Given the description of an element on the screen output the (x, y) to click on. 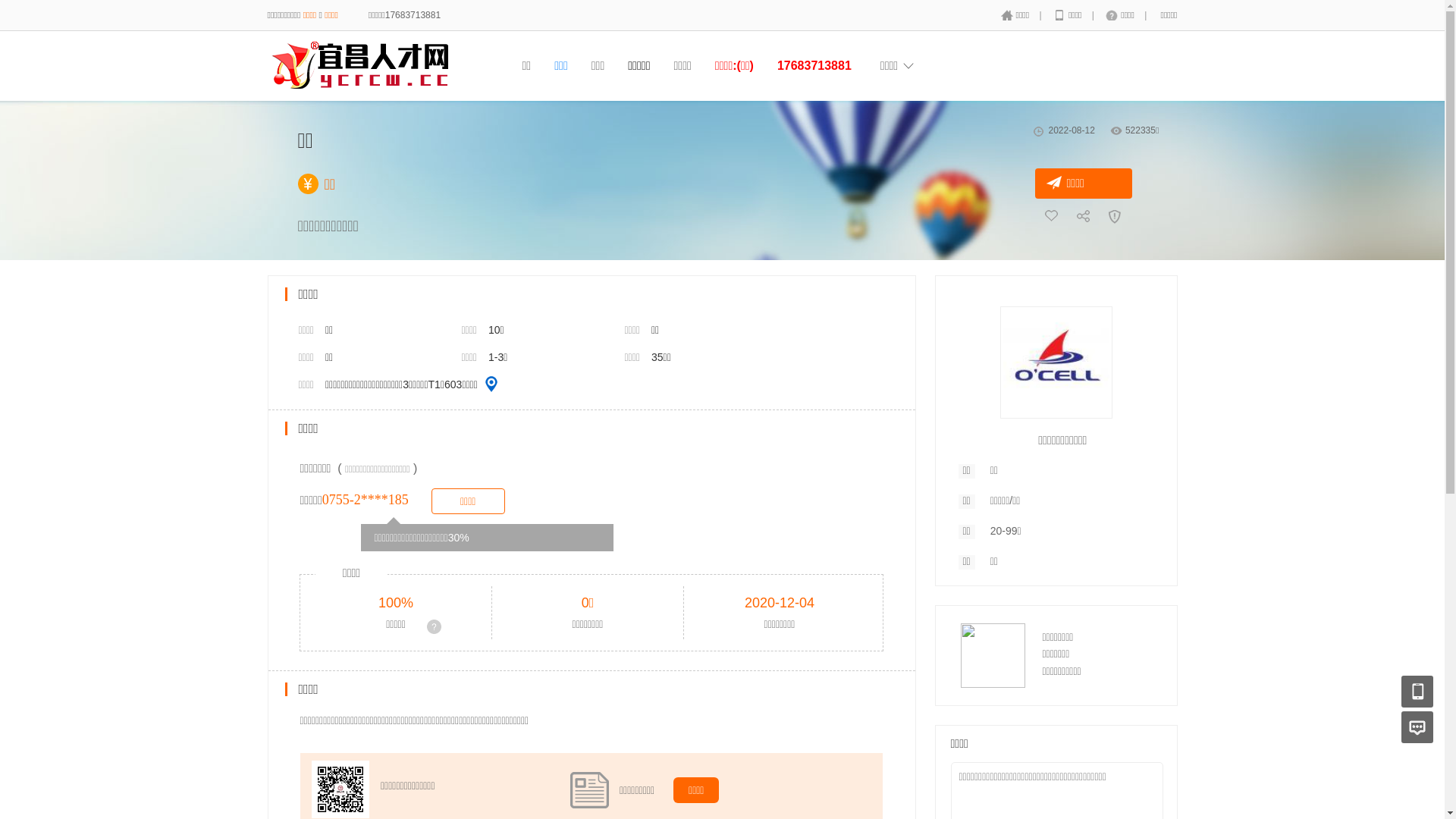
17683713881 Element type: text (814, 65)
